Given the description of an element on the screen output the (x, y) to click on. 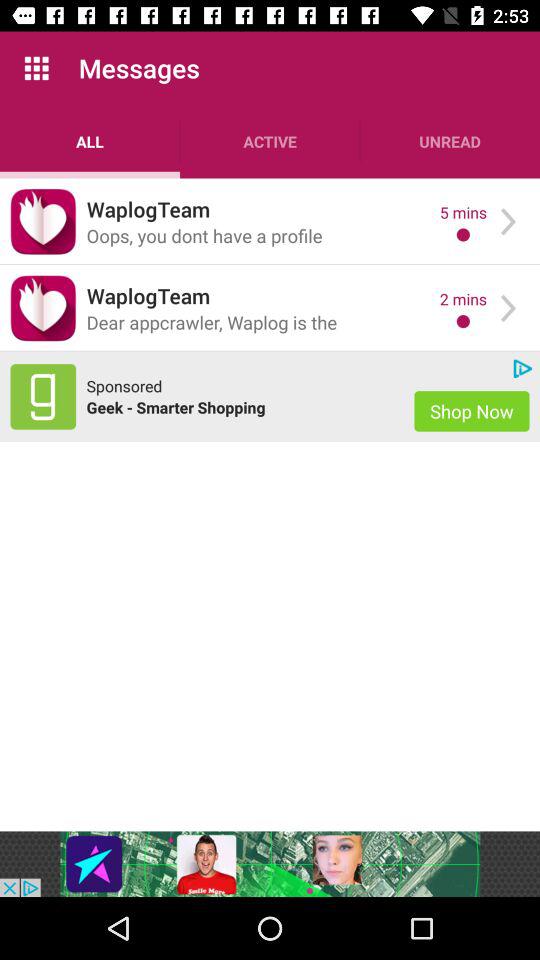
go to advertisement website (43, 396)
